Given the description of an element on the screen output the (x, y) to click on. 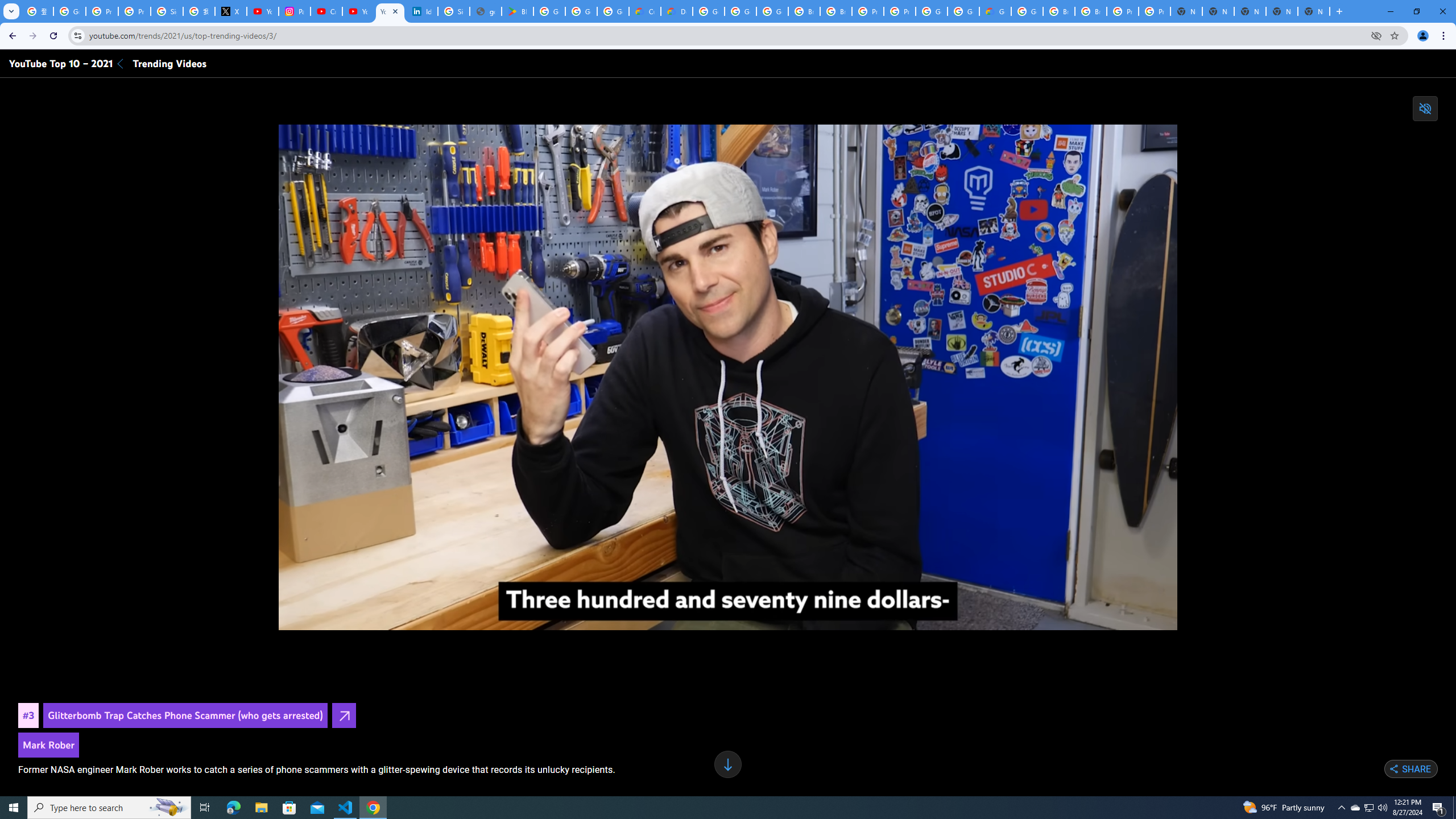
Privacy Help Center - Policies Help (134, 11)
